Given the description of an element on the screen output the (x, y) to click on. 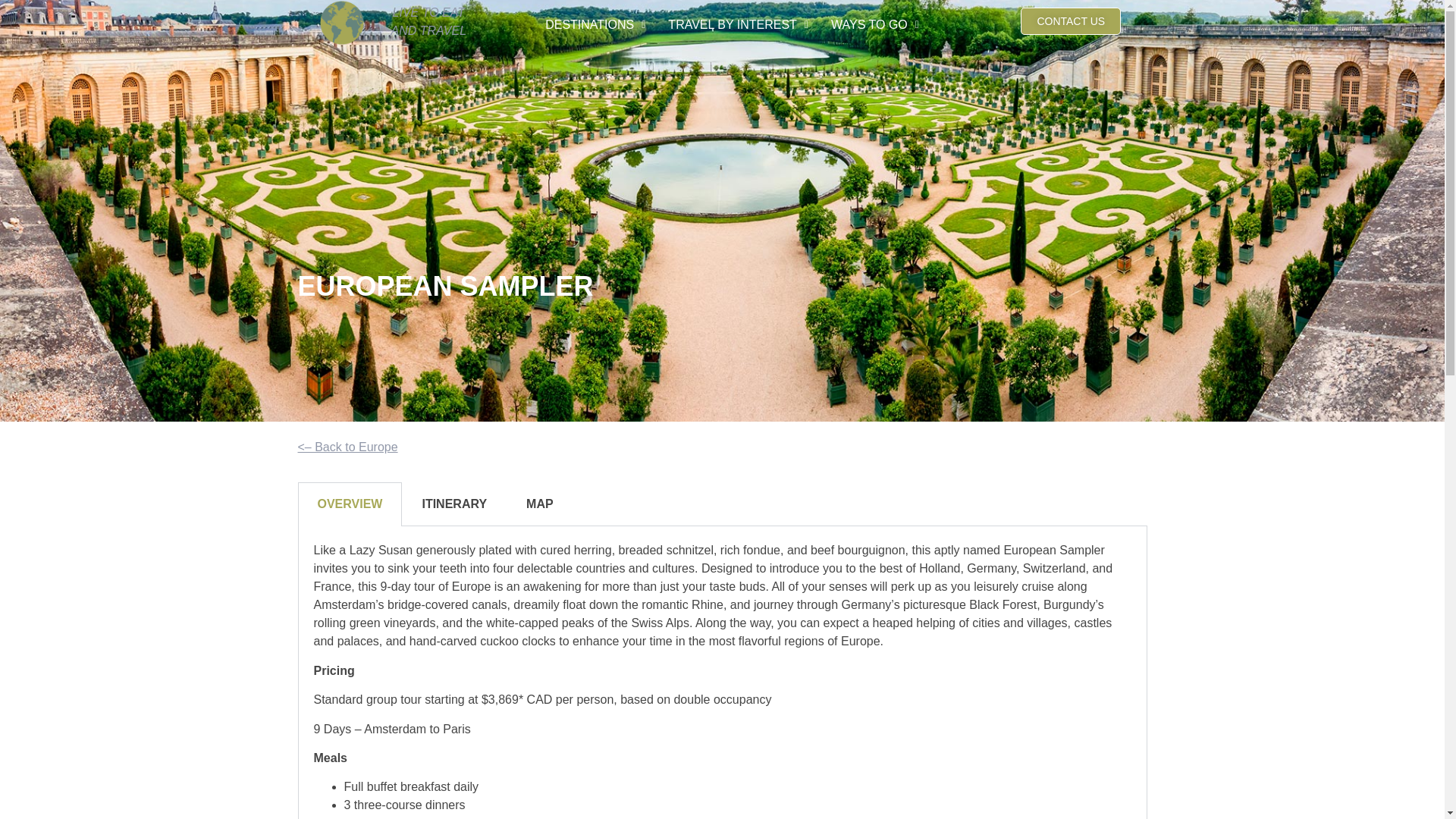
WAYS TO GO (874, 24)
LIVE TO EAT AND TRAVEL (427, 20)
DESTINATIONS (595, 24)
TRAVEL BY INTEREST (737, 24)
CONTACT US (1070, 21)
